Given the description of an element on the screen output the (x, y) to click on. 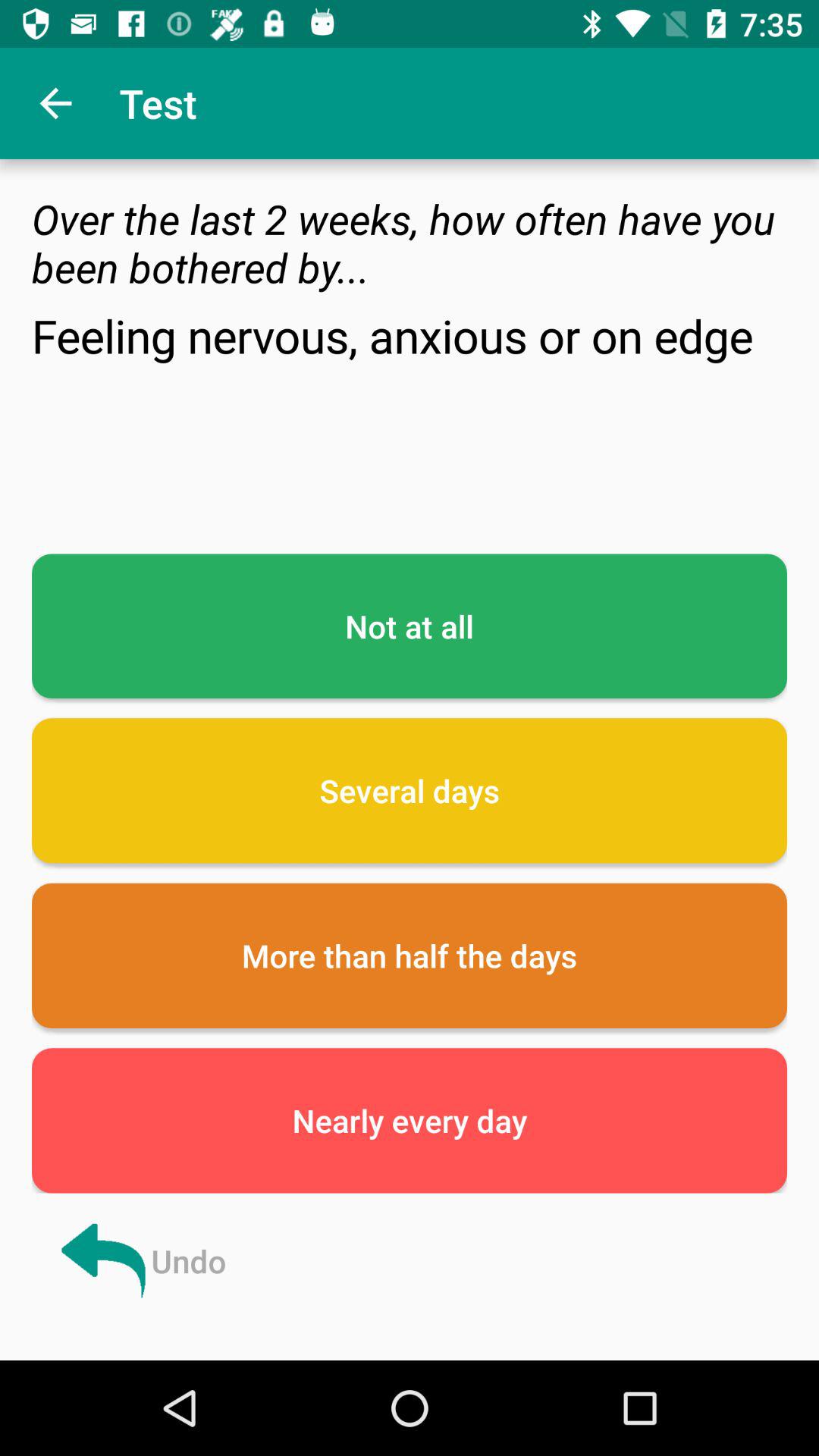
turn off the undo at the bottom left corner (140, 1260)
